Given the description of an element on the screen output the (x, y) to click on. 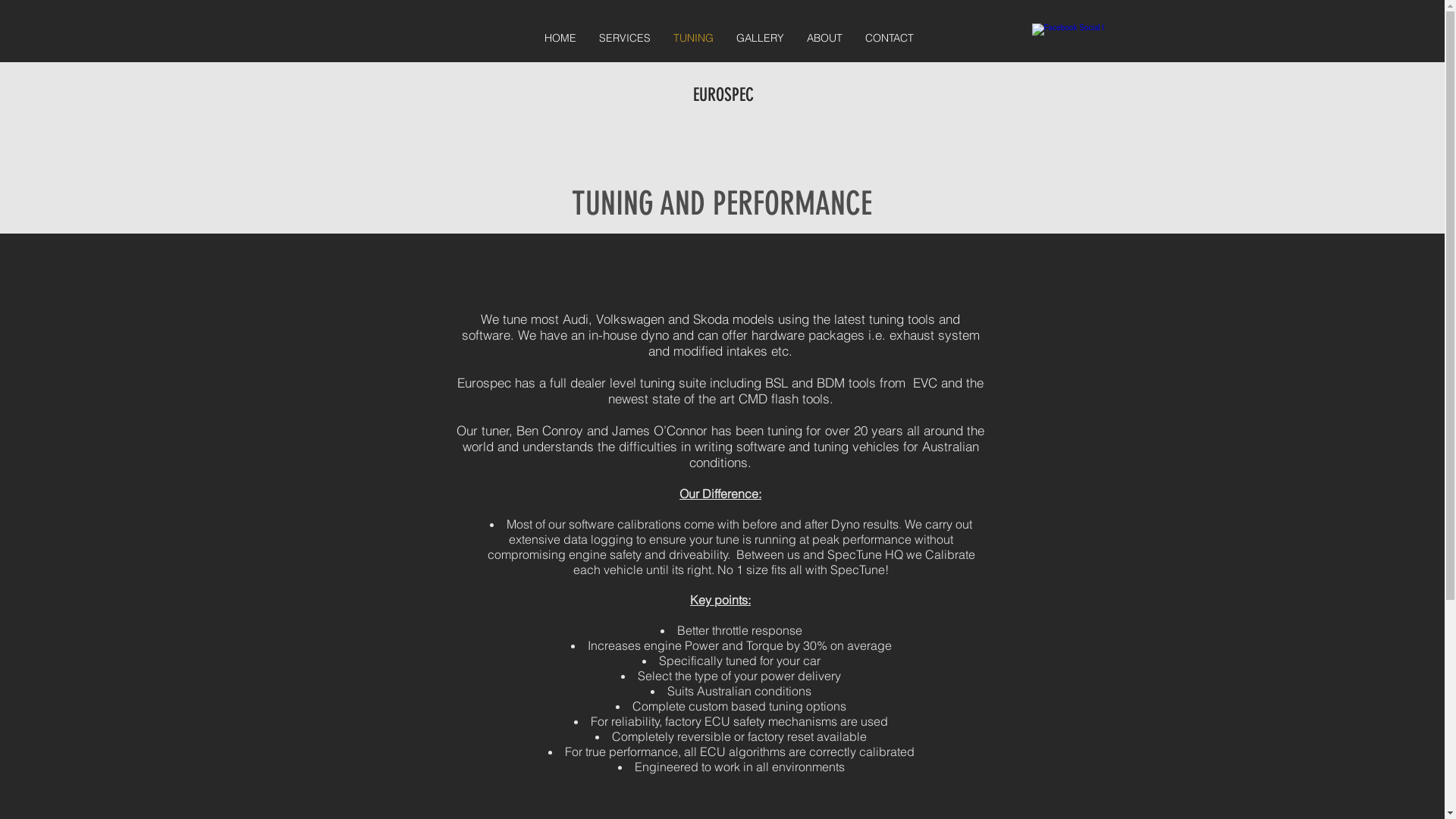
EUROSPEC  Element type: text (725, 94)
SERVICES Element type: text (623, 38)
GALLERY Element type: text (759, 38)
ABOUT Element type: text (823, 38)
TUNING Element type: text (692, 38)
CONTACT Element type: text (889, 38)
HOME Element type: text (559, 38)
